Given the description of an element on the screen output the (x, y) to click on. 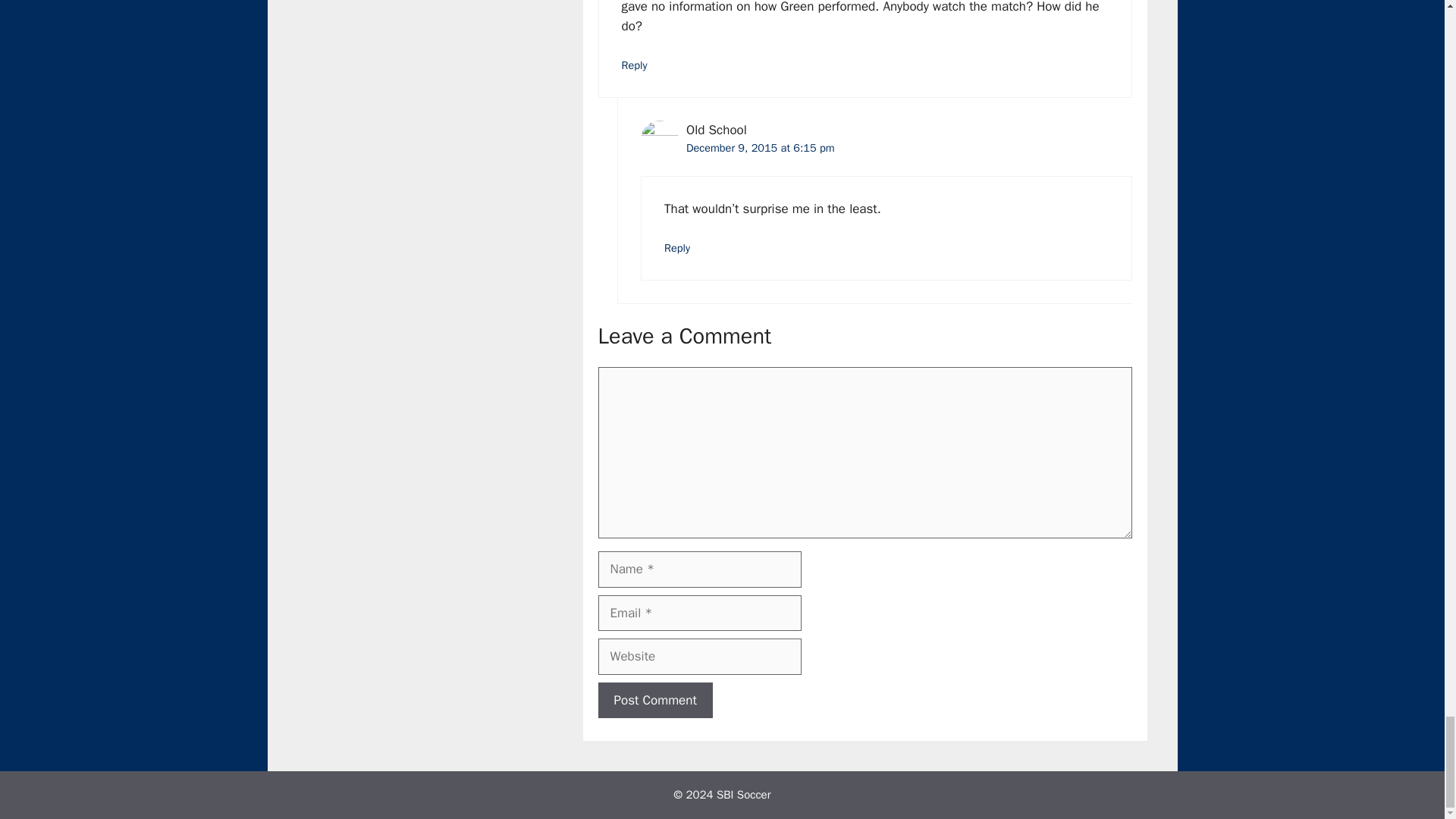
Post Comment (653, 700)
